Given the description of an element on the screen output the (x, y) to click on. 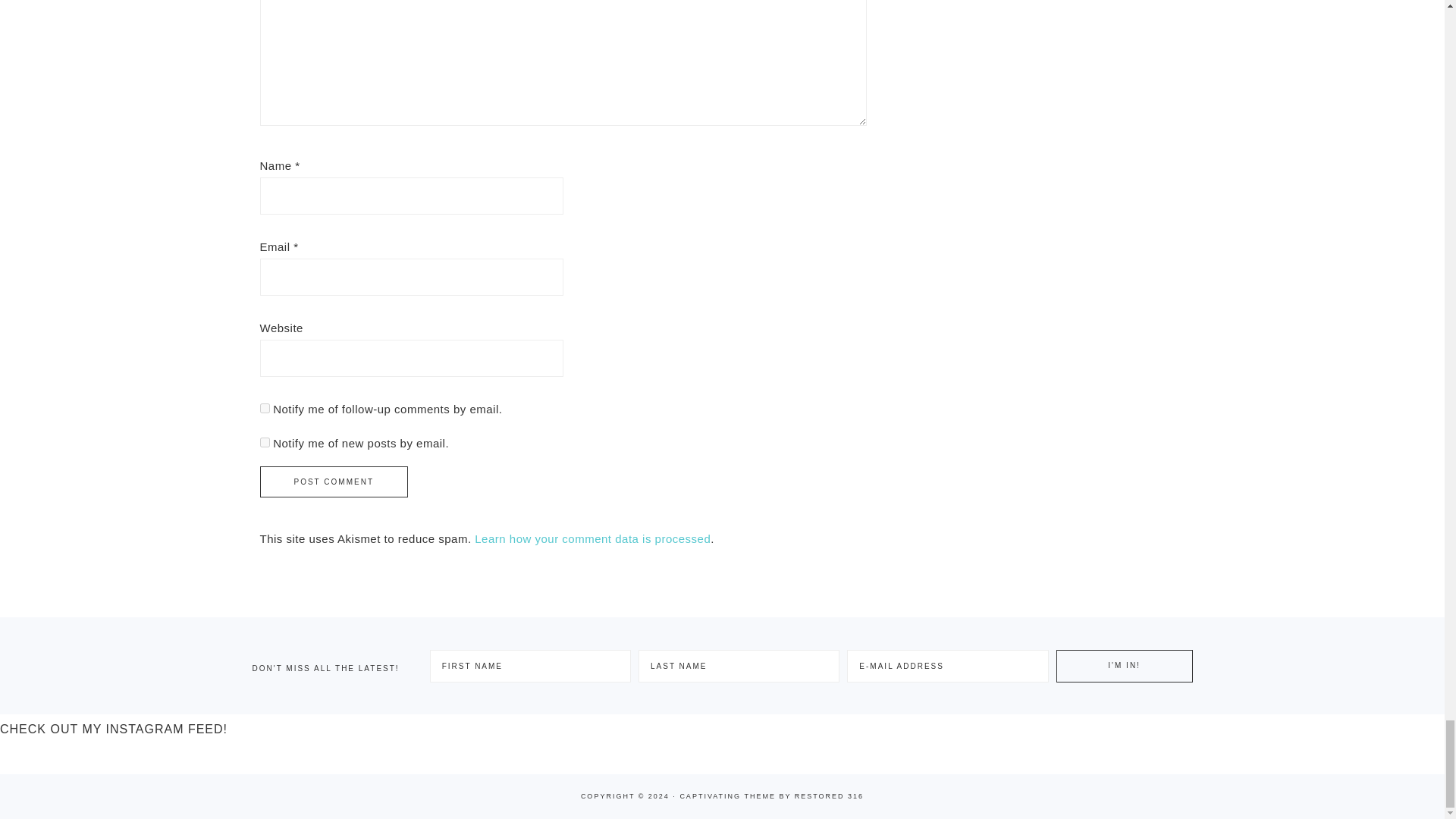
Post Comment (333, 481)
subscribe (264, 442)
subscribe (264, 408)
